Given the description of an element on the screen output the (x, y) to click on. 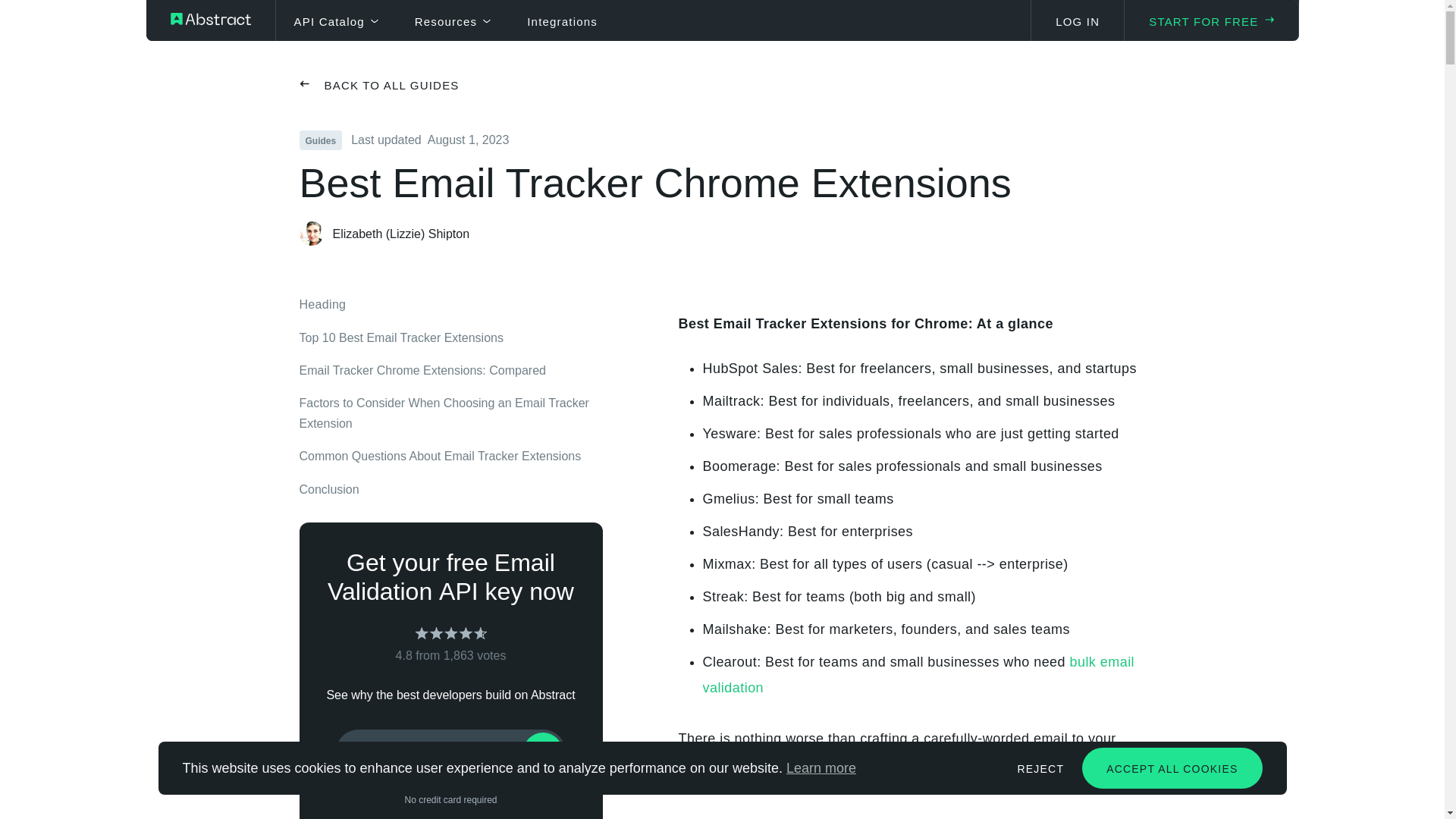
LOG IN (1077, 20)
START FOR FREE (1211, 20)
Integrations (561, 20)
